Given the description of an element on the screen output the (x, y) to click on. 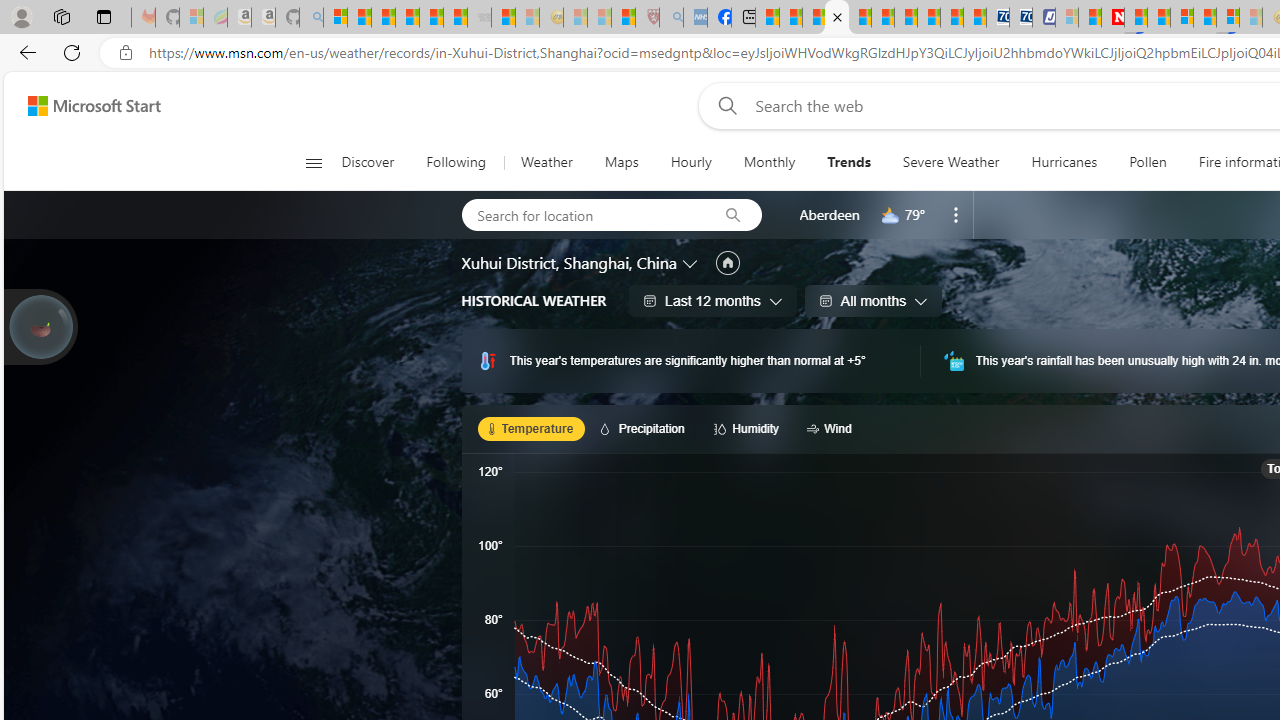
Xuhui District, Shanghai, China (568, 263)
Last 12 months (712, 300)
The Weather Channel - MSN (383, 17)
Wind (831, 428)
Monthly (769, 162)
Trends (848, 162)
